Given the description of an element on the screen output the (x, y) to click on. 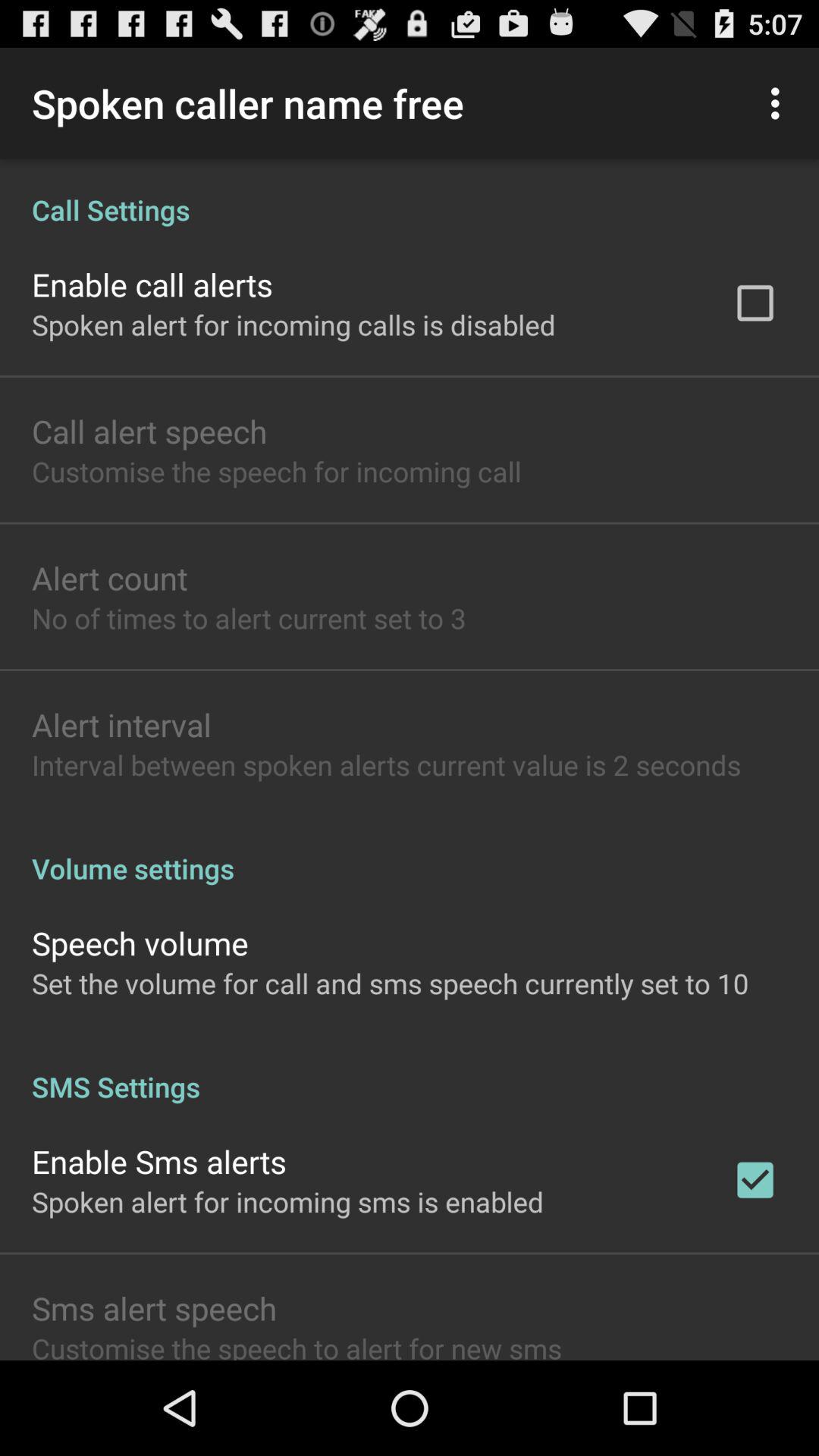
open app above the interval between spoken item (121, 724)
